Given the description of an element on the screen output the (x, y) to click on. 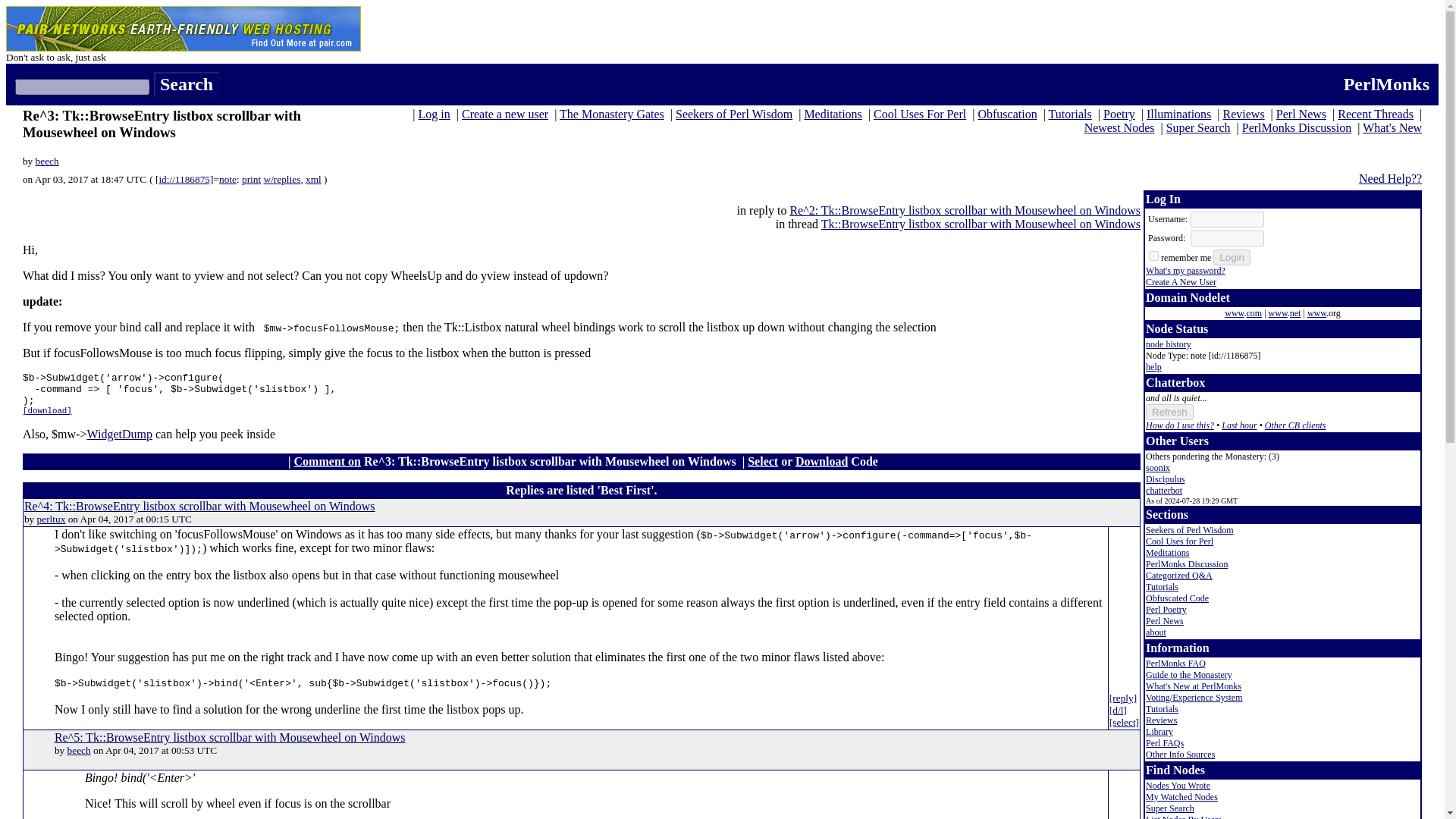
WidgetDump (118, 433)
Meditations (832, 113)
Create a new user (504, 113)
PerlMonks Discussion (1296, 127)
note (227, 179)
Comment on (327, 461)
Perl News (1301, 113)
Tutorials (1070, 113)
chatterbot's home node. Level 1 (1163, 490)
soonix's home node. Level 20 (1157, 467)
xml (313, 179)
Need Help?? (1390, 178)
Log in (434, 113)
Download (820, 461)
Search (186, 84)
